Given the description of an element on the screen output the (x, y) to click on. 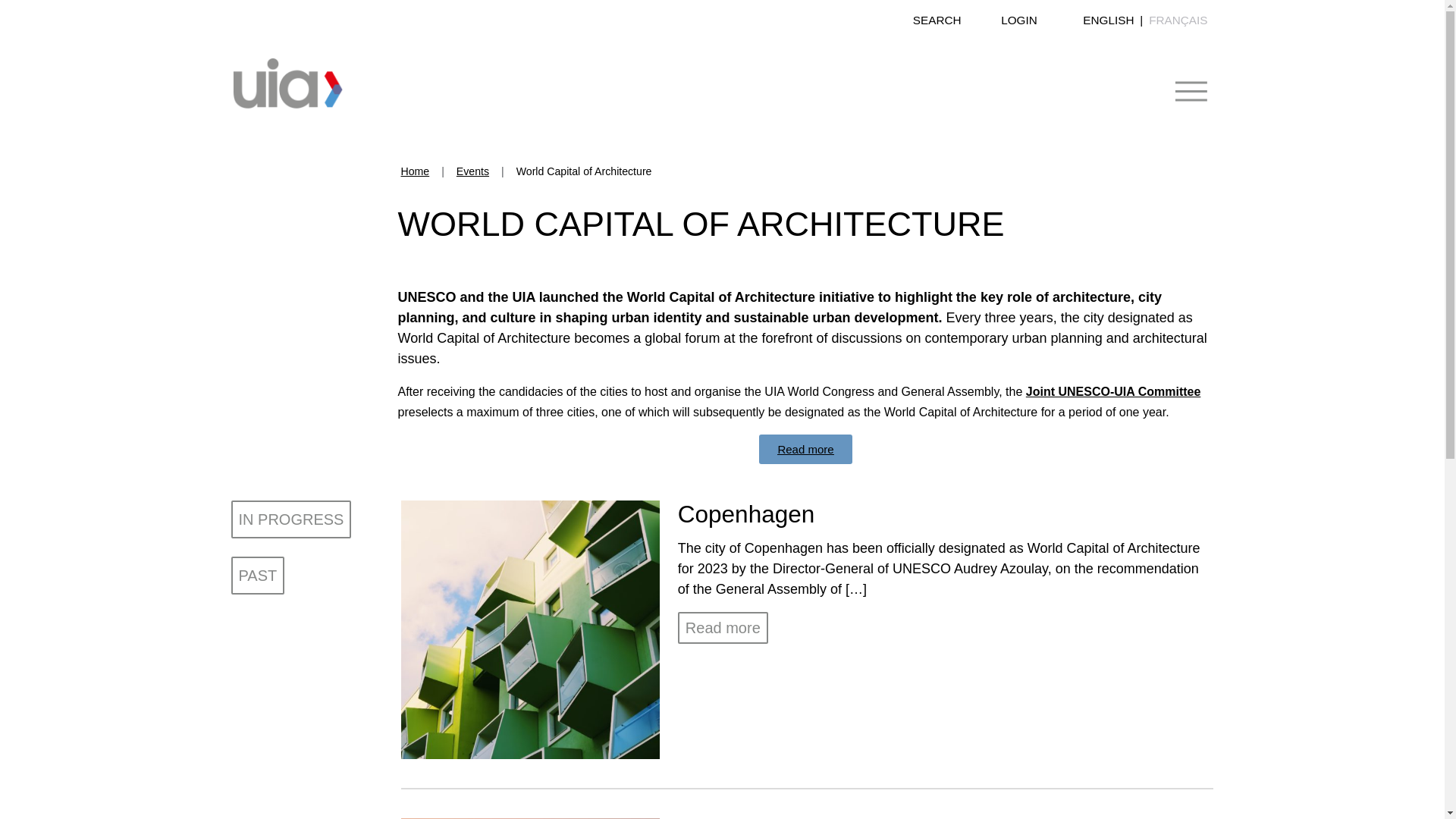
SEARCH (936, 26)
LOGIN (1018, 26)
ENGLISH (1108, 19)
